Given the description of an element on the screen output the (x, y) to click on. 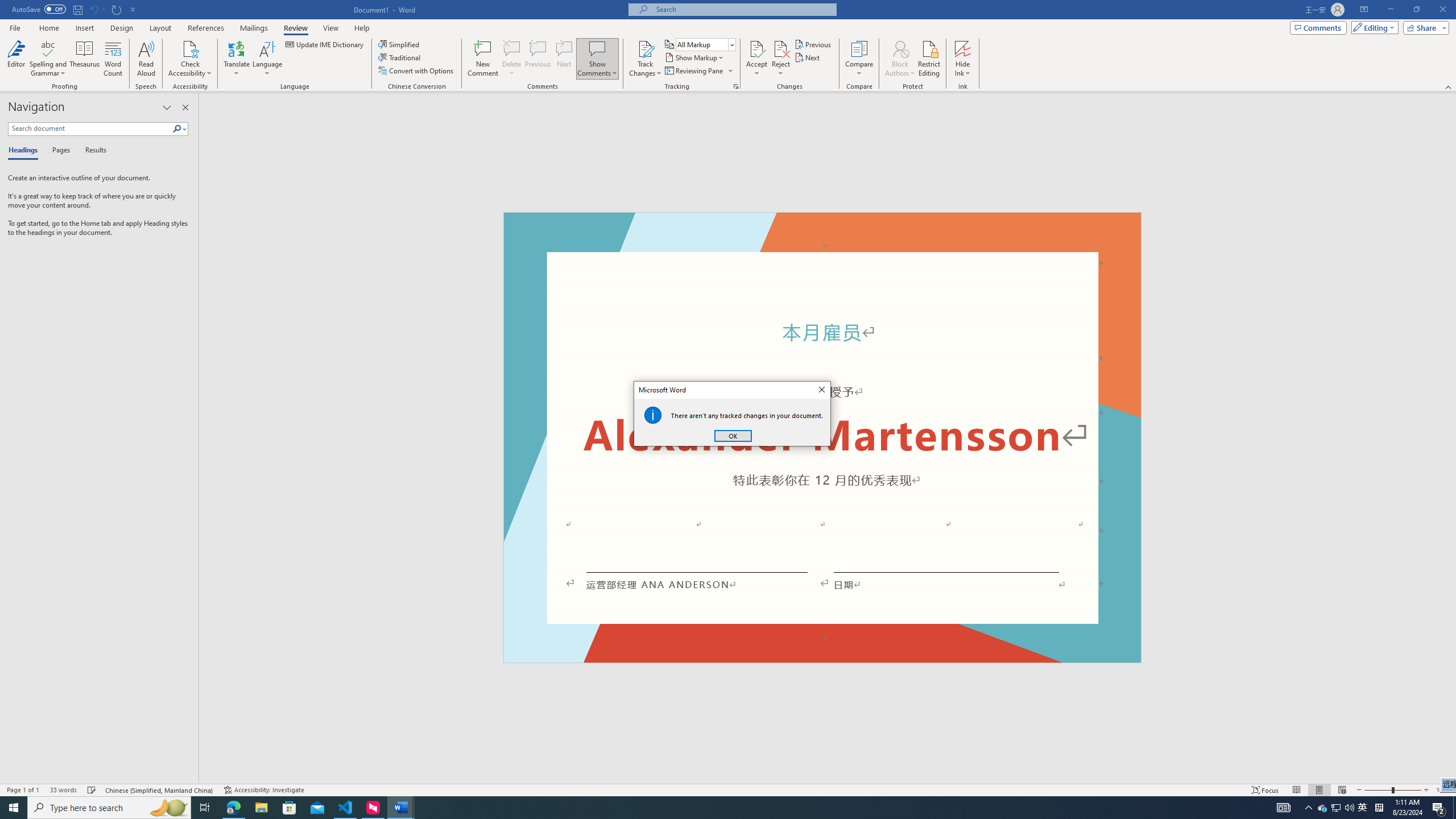
Display for Review (705, 44)
Accessibility Checker Accessibility: Investigate (263, 790)
